Given the description of an element on the screen output the (x, y) to click on. 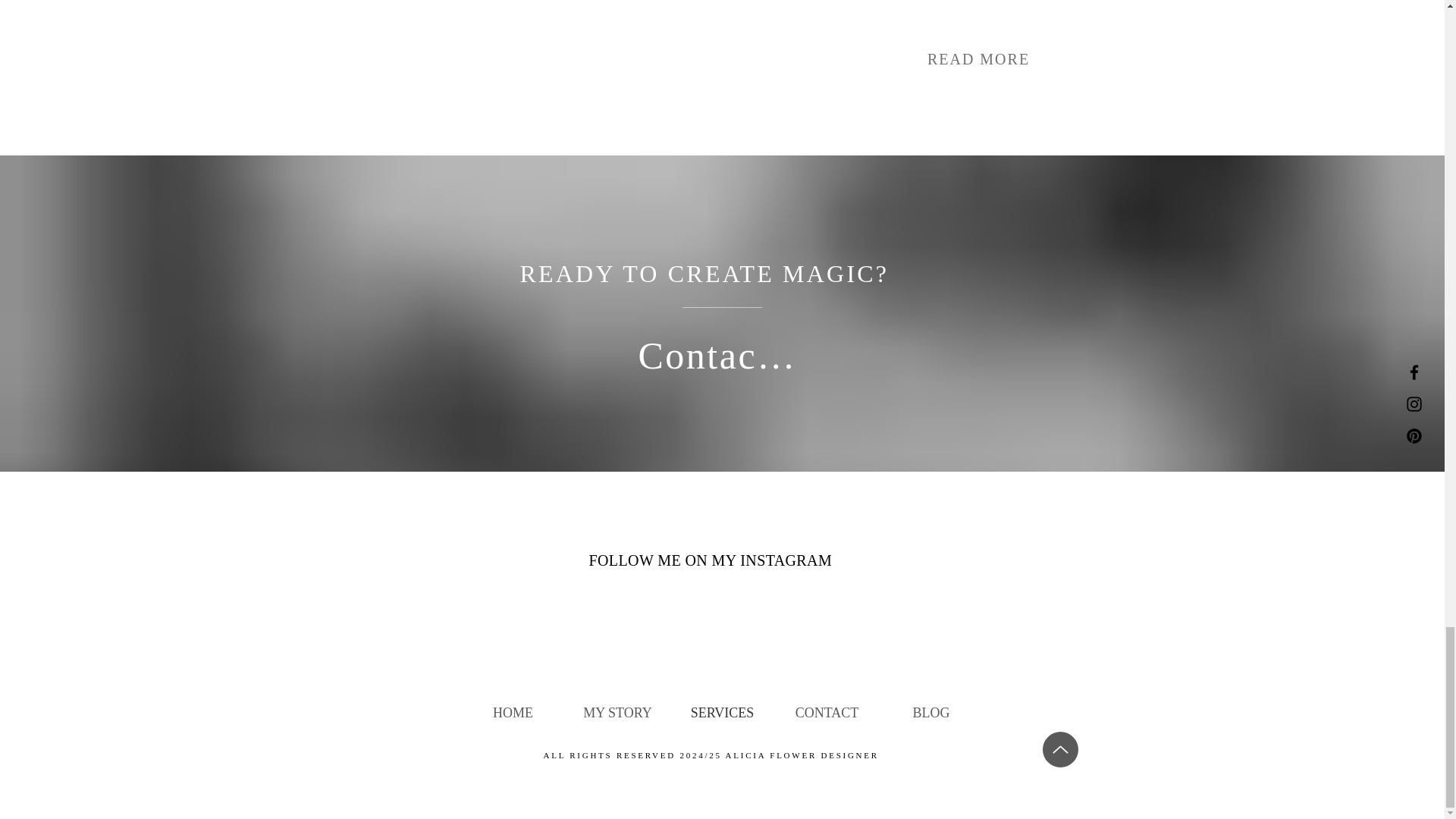
READ MORE (978, 59)
SERVICES (721, 712)
CONTACT (826, 712)
BLOG (931, 712)
MY STORY (617, 712)
Contact me! (722, 355)
HOME (513, 712)
